Given the description of an element on the screen output the (x, y) to click on. 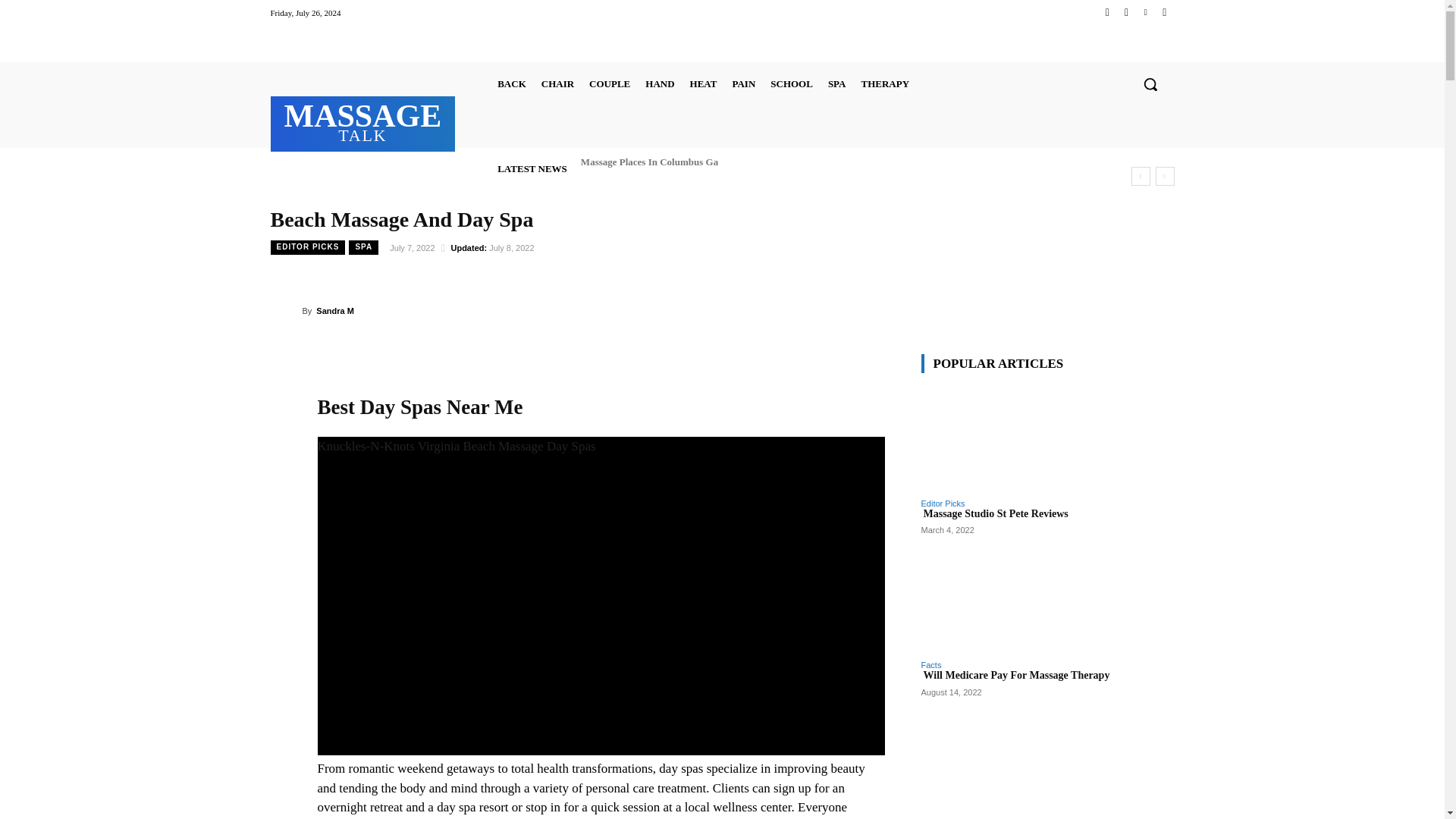
Facebook (1106, 12)
CHAIR (363, 121)
BACK (557, 83)
Instagram (512, 83)
